Given the description of an element on the screen output the (x, y) to click on. 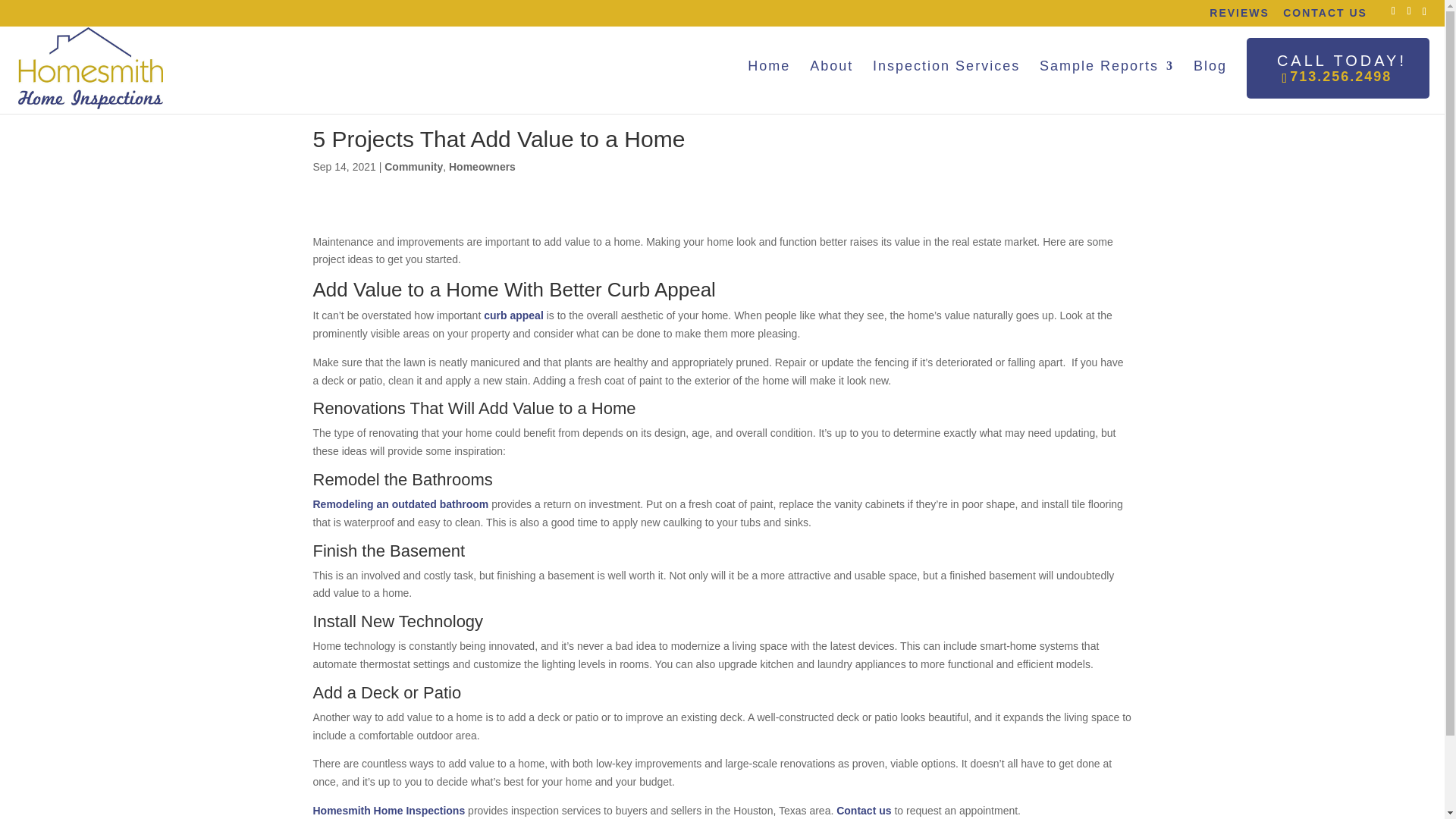
REVIEWS (1239, 16)
About (831, 65)
Blog (1337, 67)
Sample Reports (1210, 65)
Homeowners (1106, 65)
Inspection Services (481, 166)
Contact us (946, 65)
Home (863, 810)
CONTACT US (769, 65)
